Given the description of an element on the screen output the (x, y) to click on. 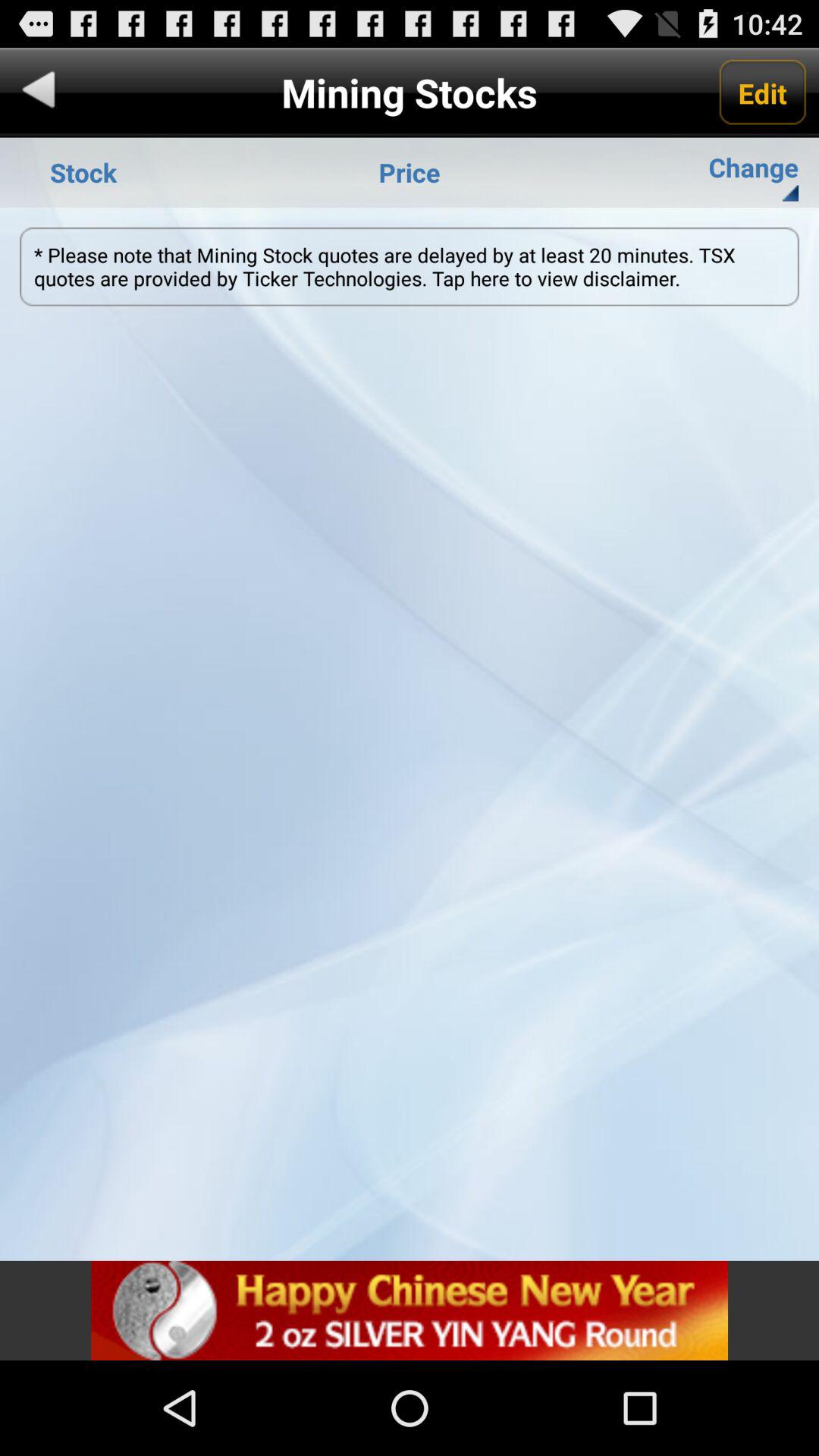
click advertisement (409, 1310)
